Given the description of an element on the screen output the (x, y) to click on. 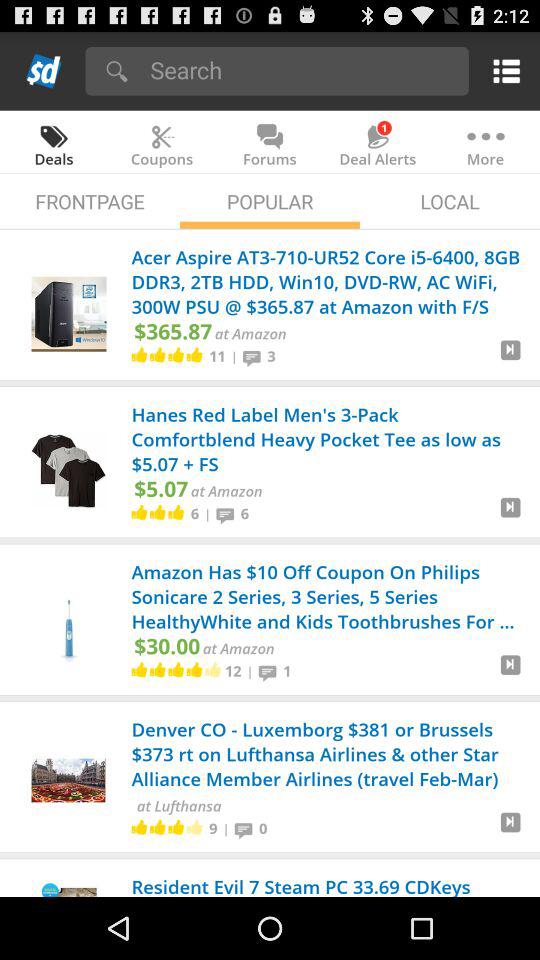
turn on icon to the right of the | app (246, 828)
